Given the description of an element on the screen output the (x, y) to click on. 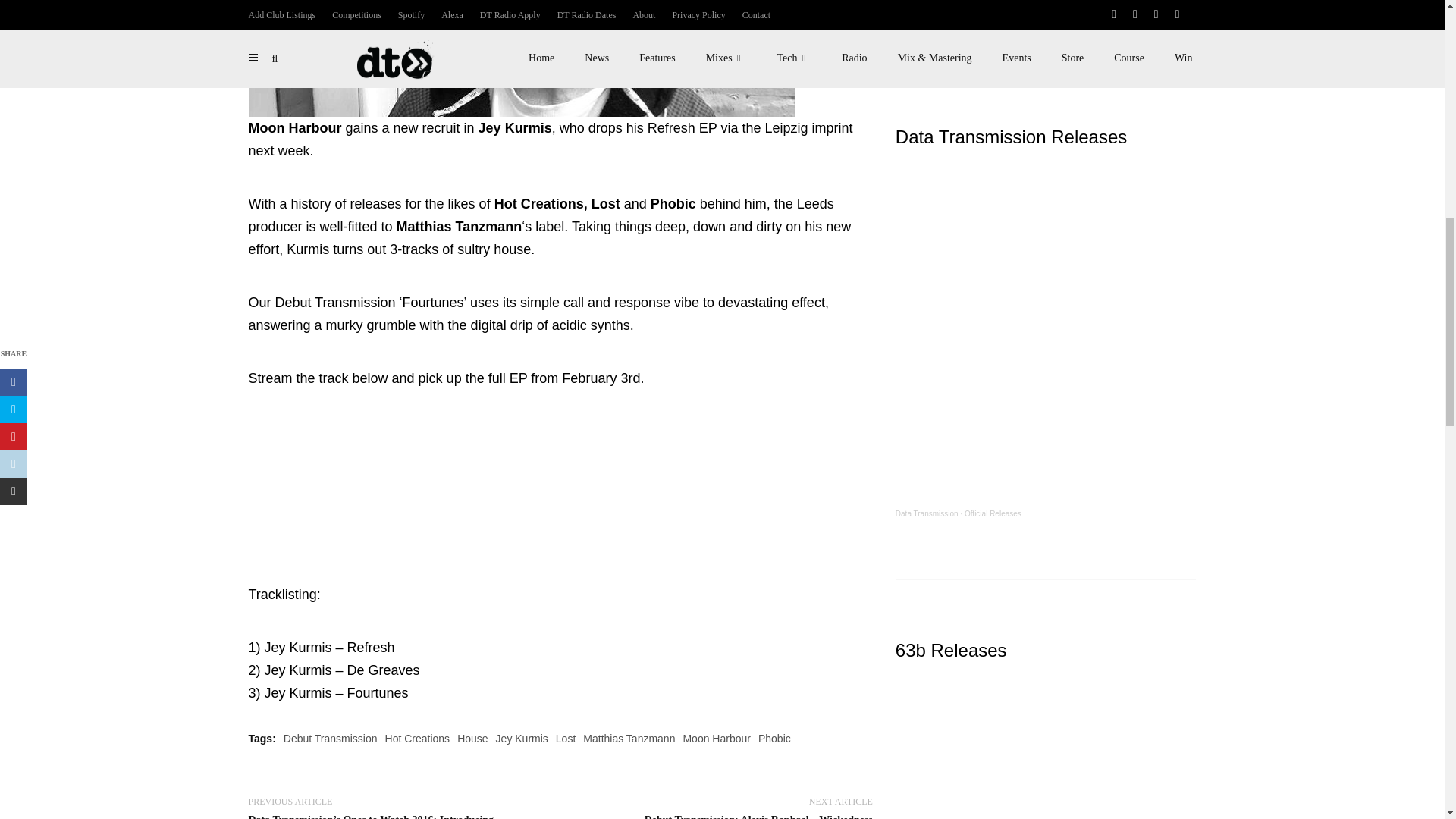
Official Releases (992, 513)
Data Transmission (926, 513)
